Given the description of an element on the screen output the (x, y) to click on. 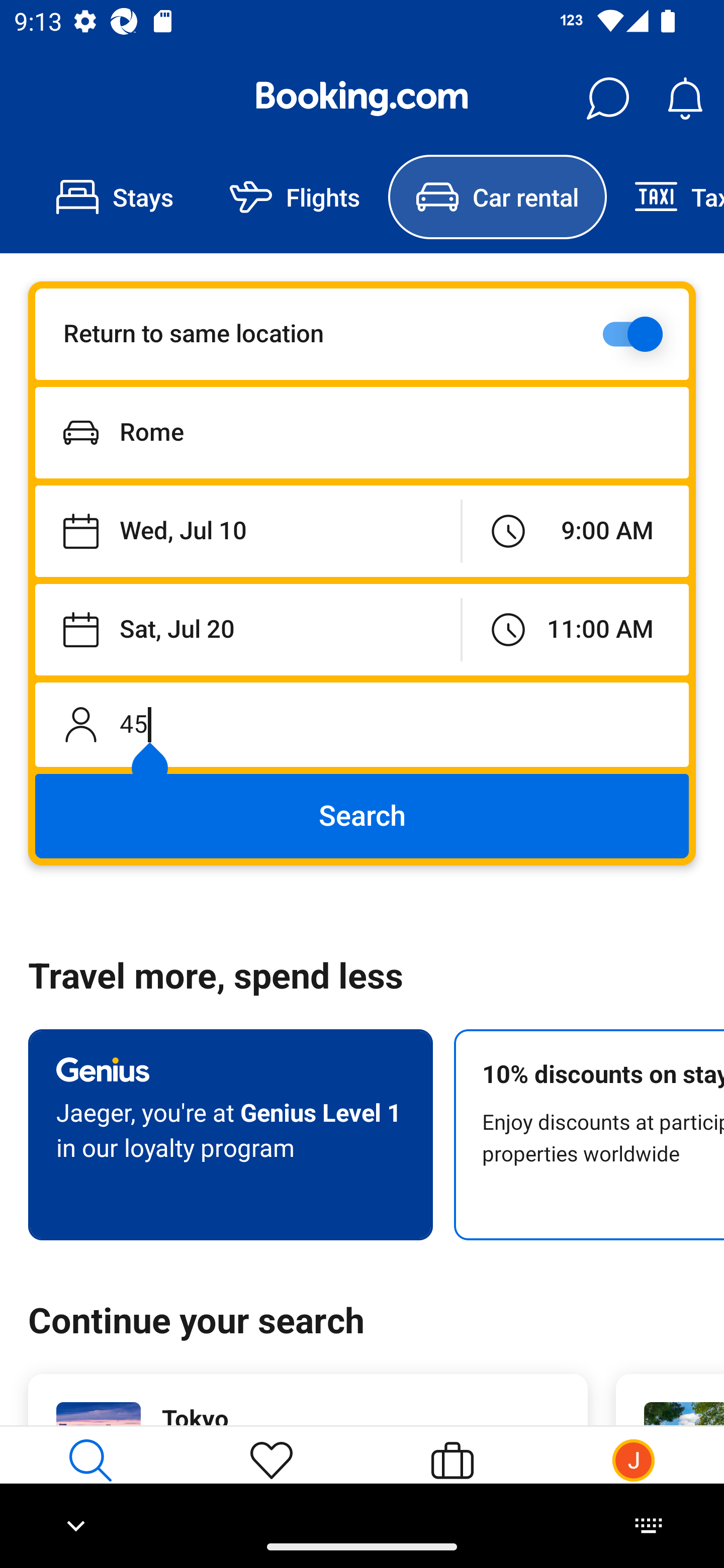
Messages (607, 98)
Notifications (685, 98)
Stays (114, 197)
Flights (294, 197)
Car rental (497, 197)
Taxi (665, 197)
Pick-up location: Text(name=Rome) (361, 432)
Pick-up date: 2024-07-10 (247, 531)
Pick-up time: 09:00:00.000 (575, 531)
Drop-off date: 2024-07-20 (247, 629)
Drop-off time: 11:00:00.000 (575, 629)
Driver's age: 45 (361, 724)
Search (361, 815)
Saved (271, 1475)
Bookings (452, 1475)
Profile (633, 1475)
